Given the description of an element on the screen output the (x, y) to click on. 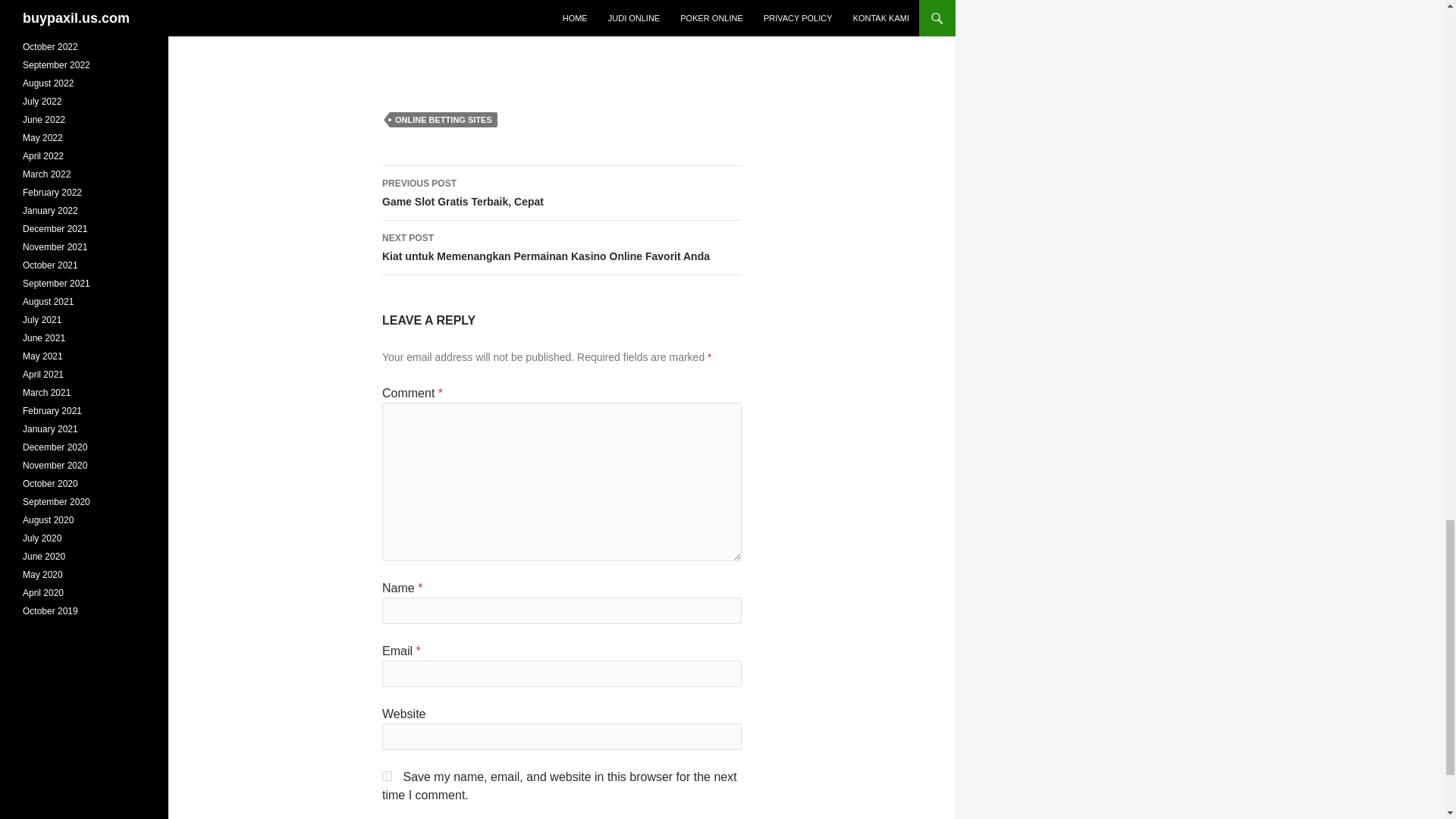
yes (386, 776)
ONLINE BETTING SITES (561, 193)
